Given the description of an element on the screen output the (x, y) to click on. 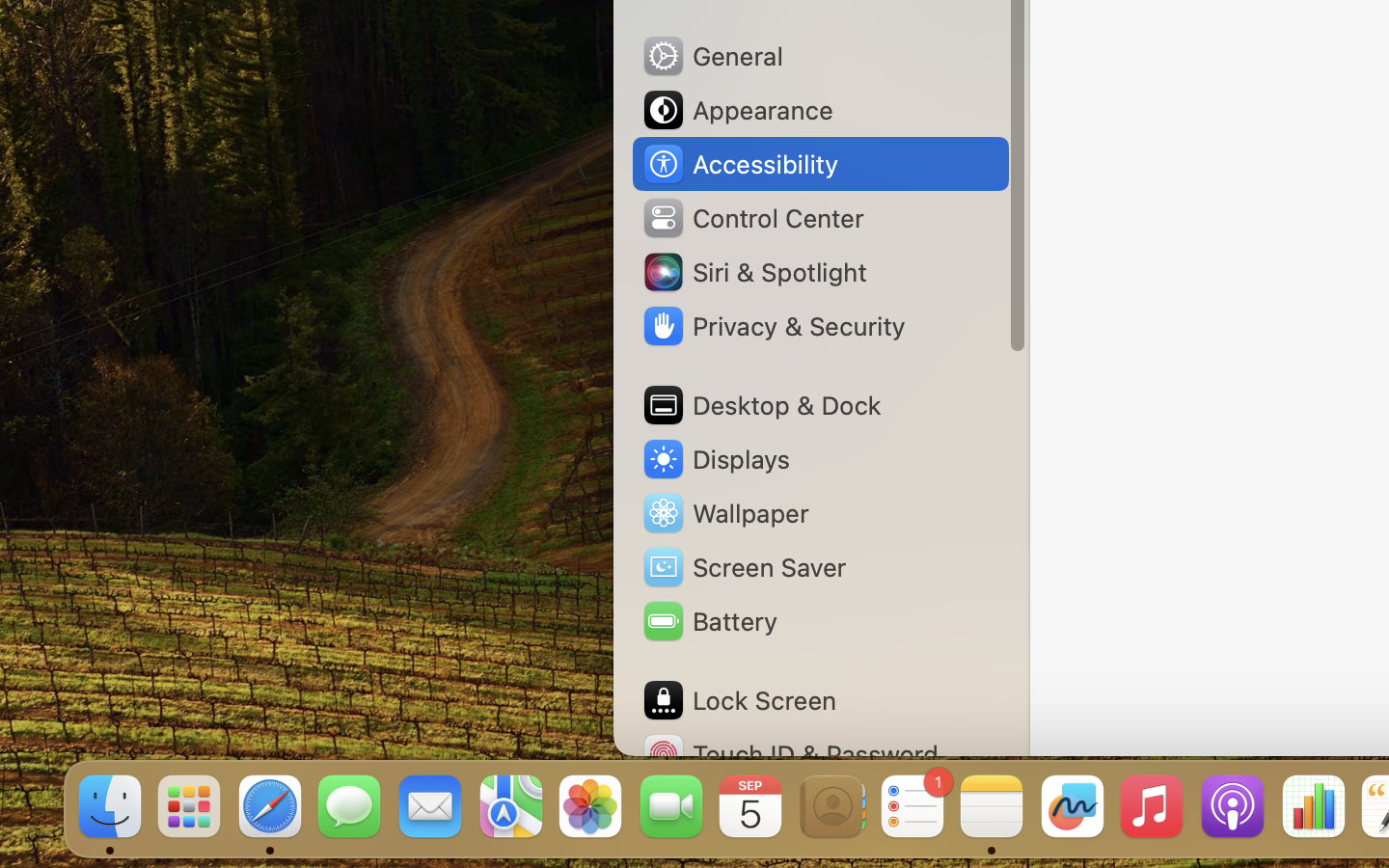
Touch ID & Password Element type: AXStaticText (789, 754)
Siri & Spotlight Element type: AXStaticText (753, 271)
Privacy & Security Element type: AXStaticText (772, 325)
Screen Saver Element type: AXStaticText (743, 566)
Displays Element type: AXStaticText (715, 458)
